Given the description of an element on the screen output the (x, y) to click on. 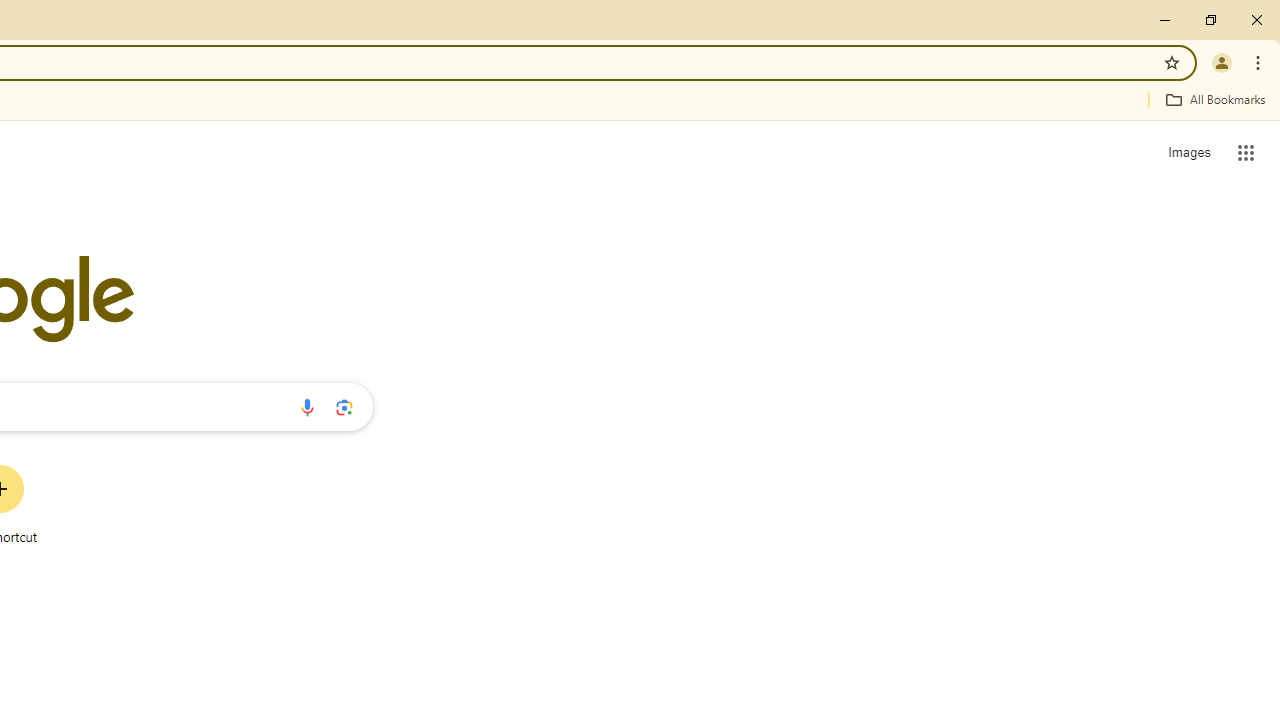
All Bookmarks (1215, 99)
